Given the description of an element on the screen output the (x, y) to click on. 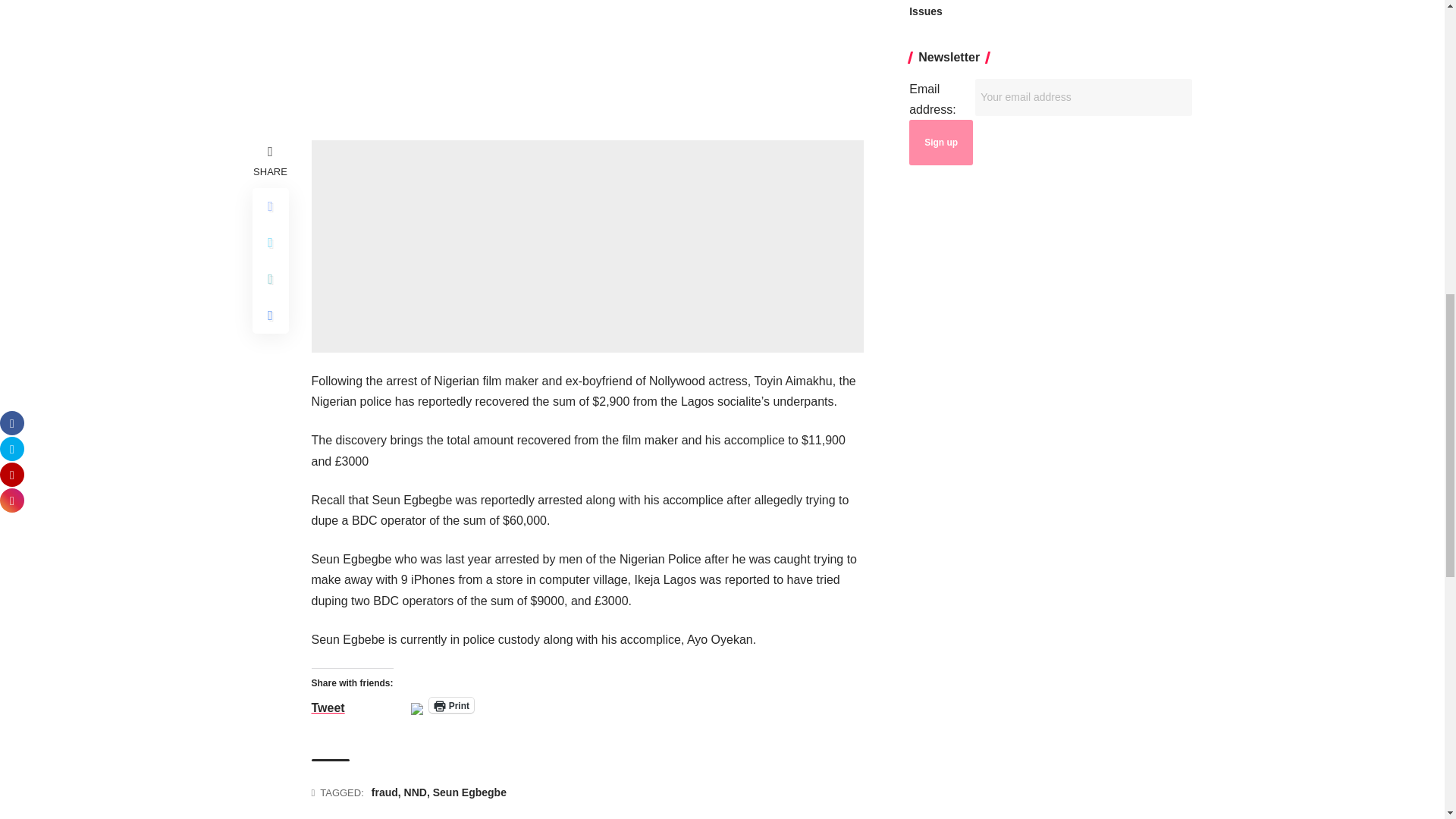
Sign up (940, 142)
Advertisement (587, 246)
Click to print (451, 704)
